Given the description of an element on the screen output the (x, y) to click on. 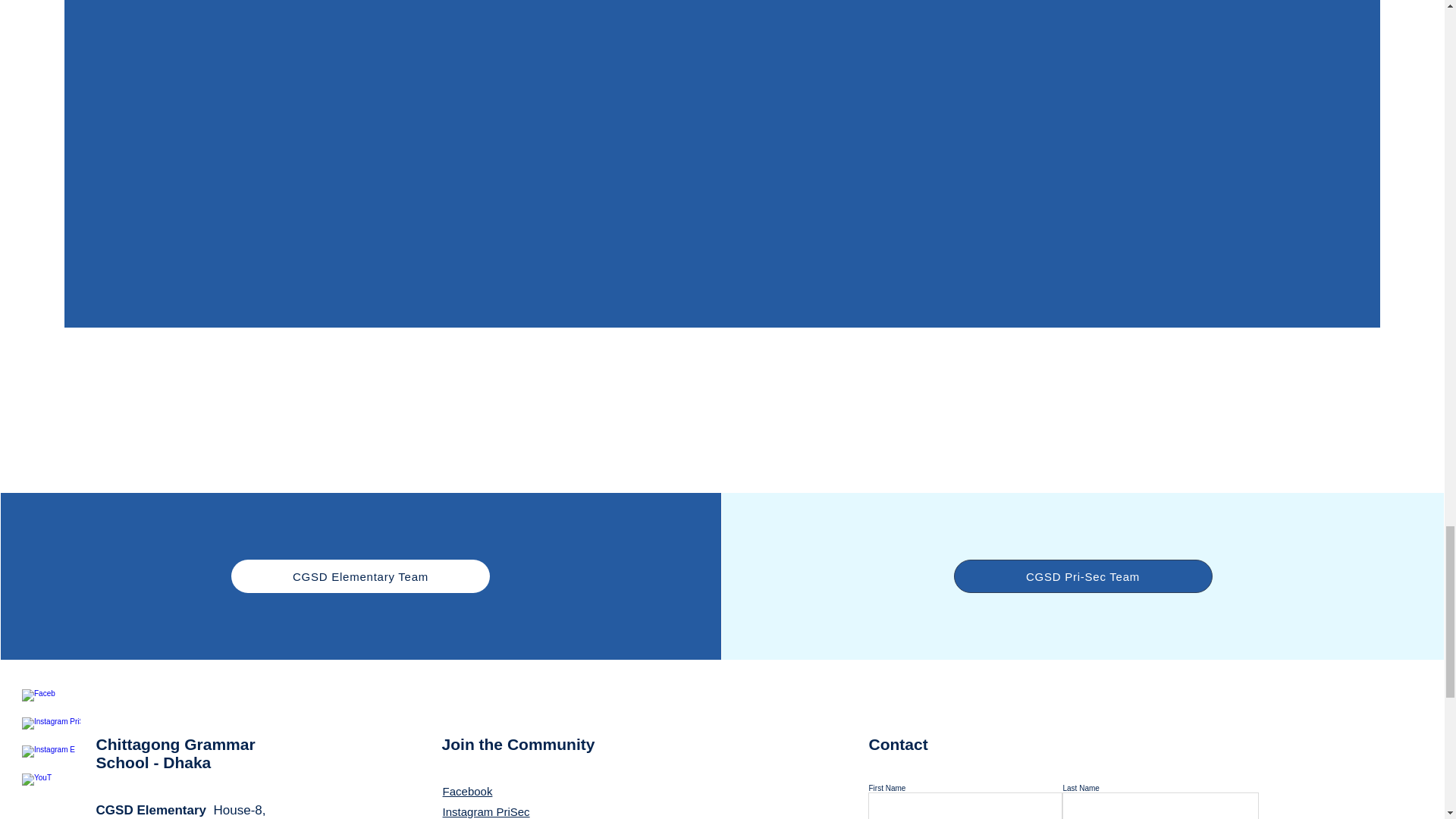
Facebook (467, 790)
CGSD Pri-Sec Team (1082, 575)
Chittagong Grammar School - Dhaka (176, 753)
CGSD Elementary Team (360, 575)
Instagram PriSec (485, 811)
